Given the description of an element on the screen output the (x, y) to click on. 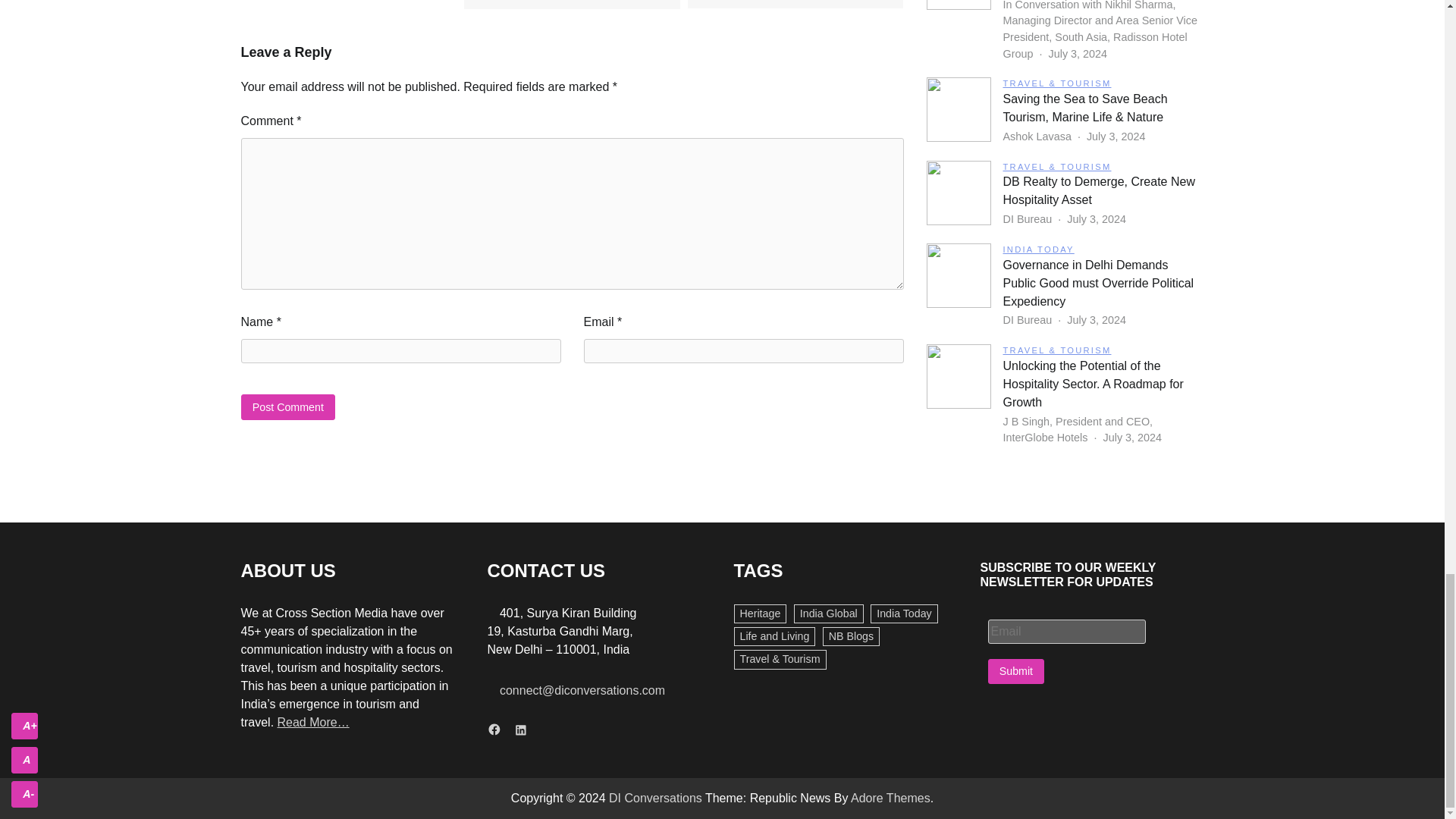
Post Comment (288, 406)
Email (1065, 631)
Post Comment (288, 406)
